Given the description of an element on the screen output the (x, y) to click on. 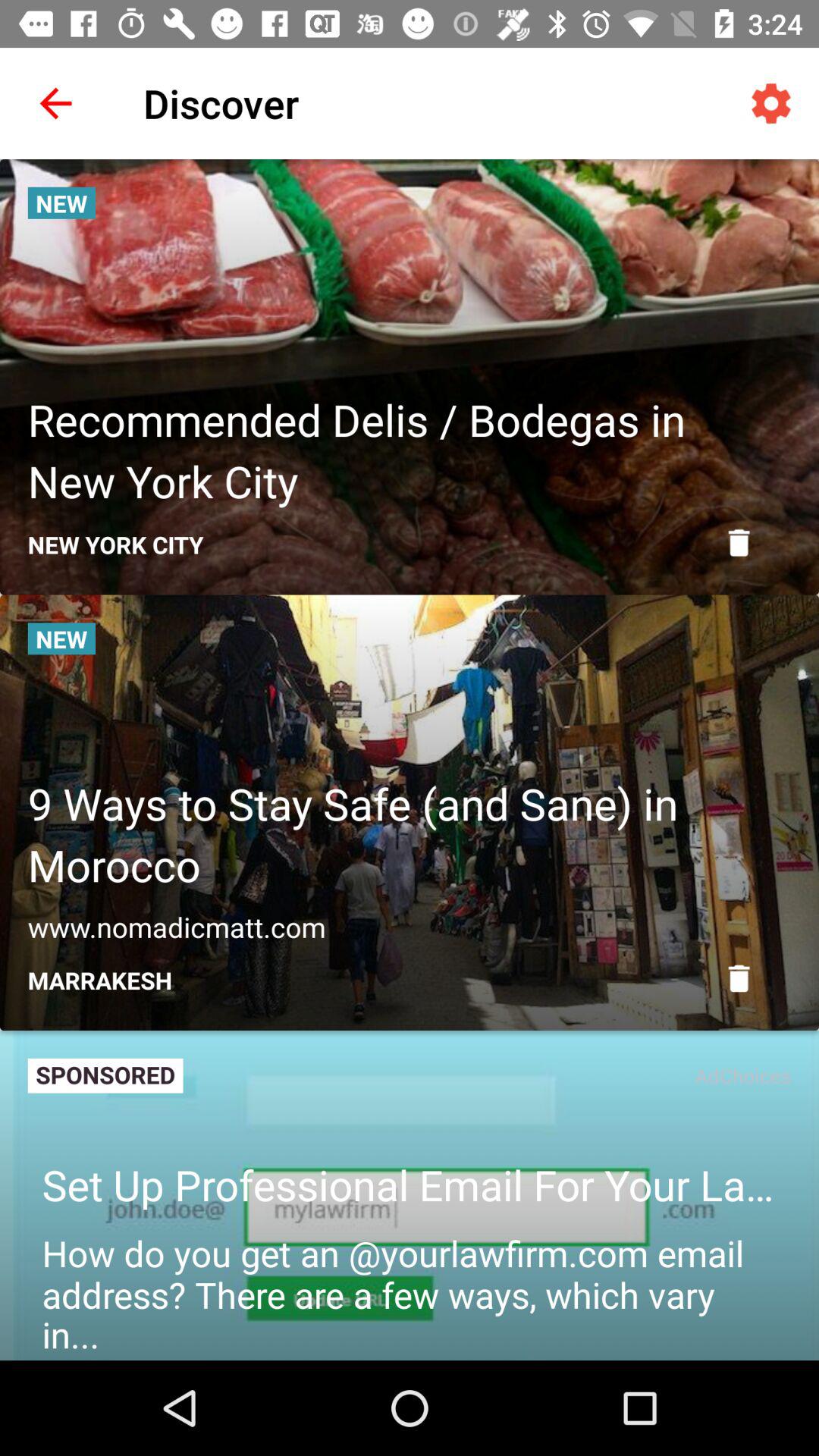
delete option (739, 542)
